Given the description of an element on the screen output the (x, y) to click on. 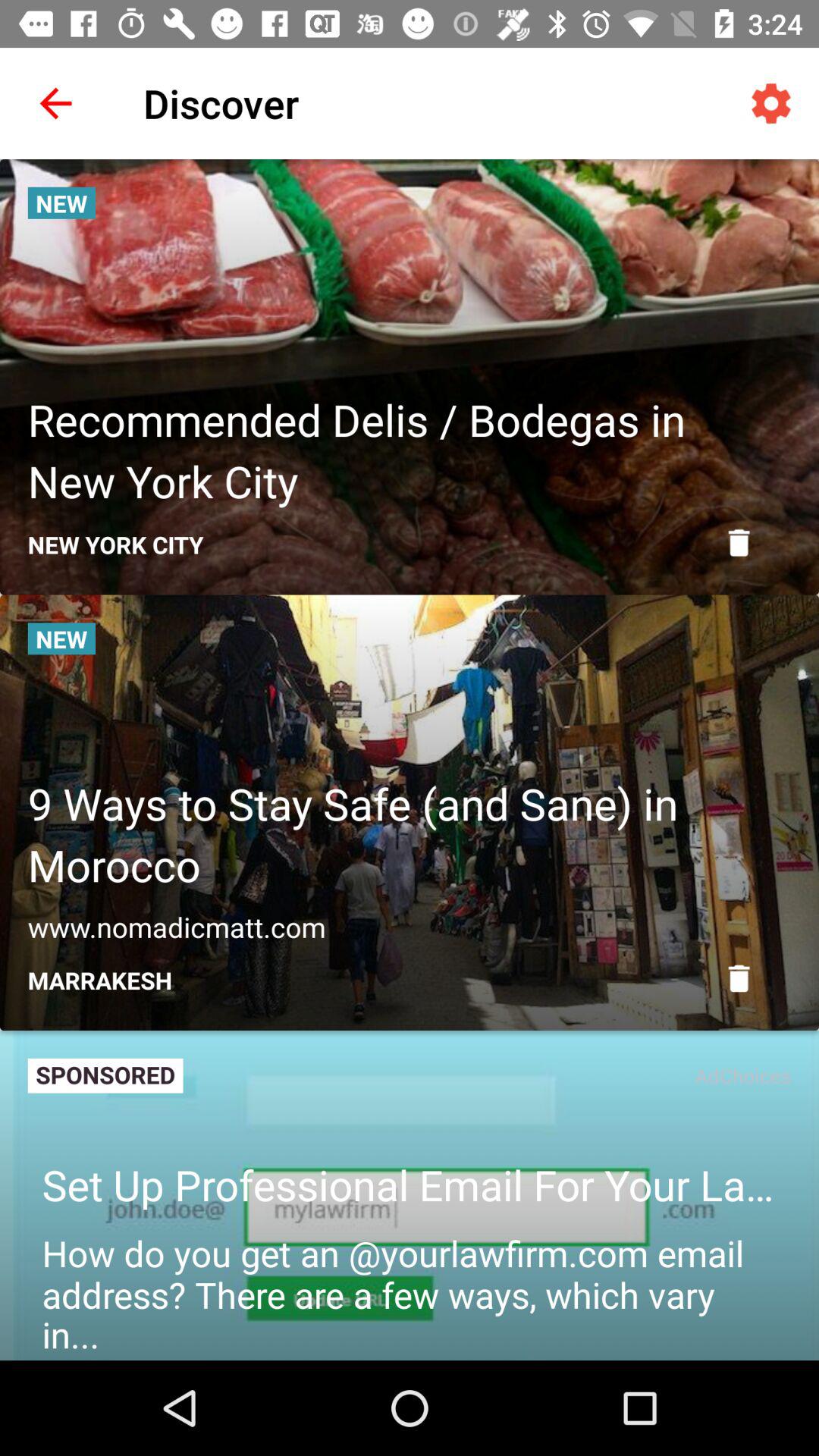
delete option (739, 542)
